Given the description of an element on the screen output the (x, y) to click on. 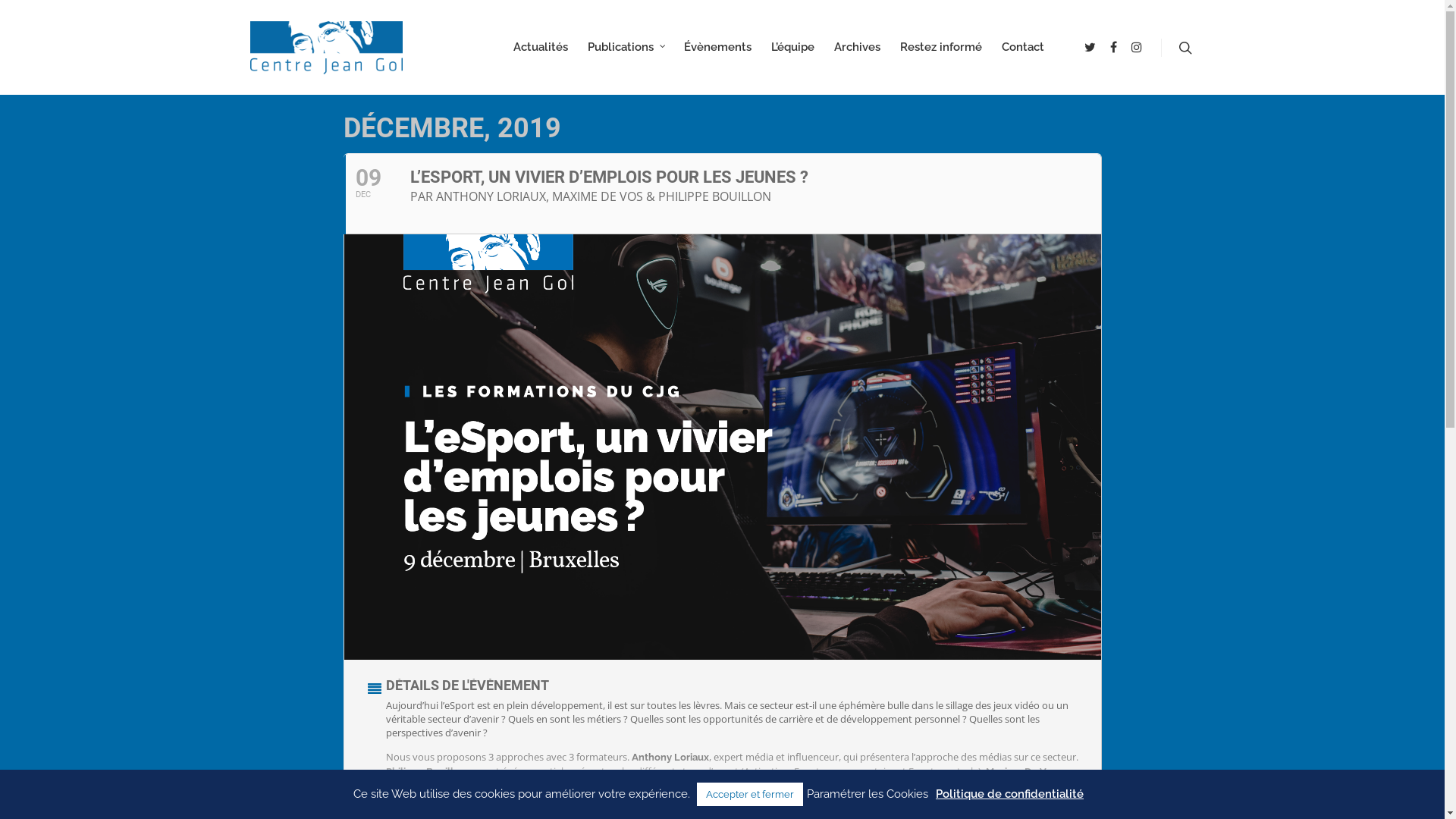
Archives Element type: text (857, 57)
Contact Element type: text (1022, 57)
Publications Element type: text (625, 57)
Accepter et fermer Element type: text (749, 794)
